Given the description of an element on the screen output the (x, y) to click on. 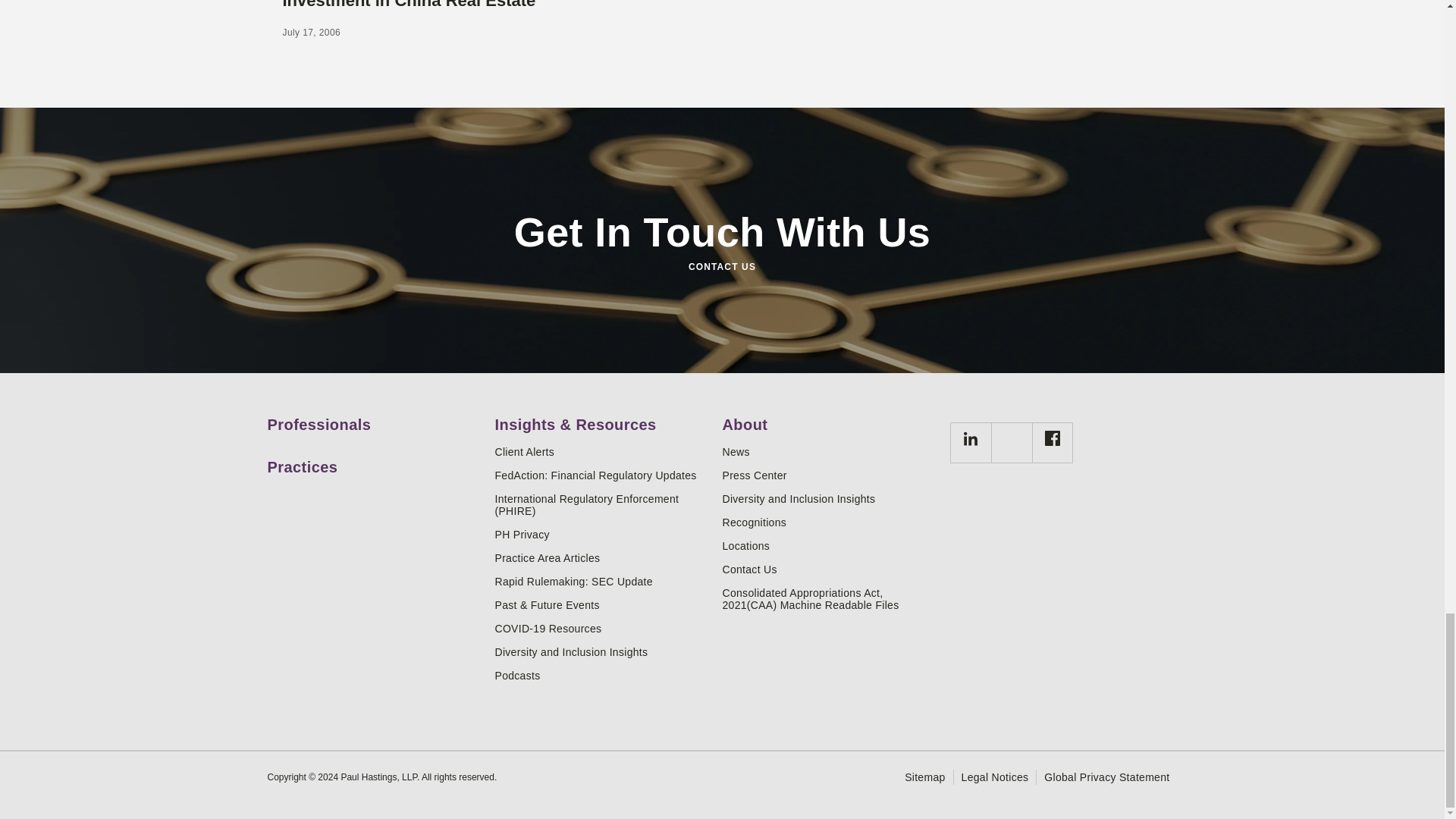
Press Center (829, 475)
COVID-19 Resources (602, 628)
CB6A0679-7CD4-47AB-9AF9-079521319001Created with sketchtool. (969, 442)
Client Alerts (602, 451)
Podcasts (602, 675)
Recognitions (829, 522)
CONTACT US (721, 266)
Diversity and Inclusion Insights (602, 652)
Professionals (374, 418)
News (829, 451)
